Given the description of an element on the screen output the (x, y) to click on. 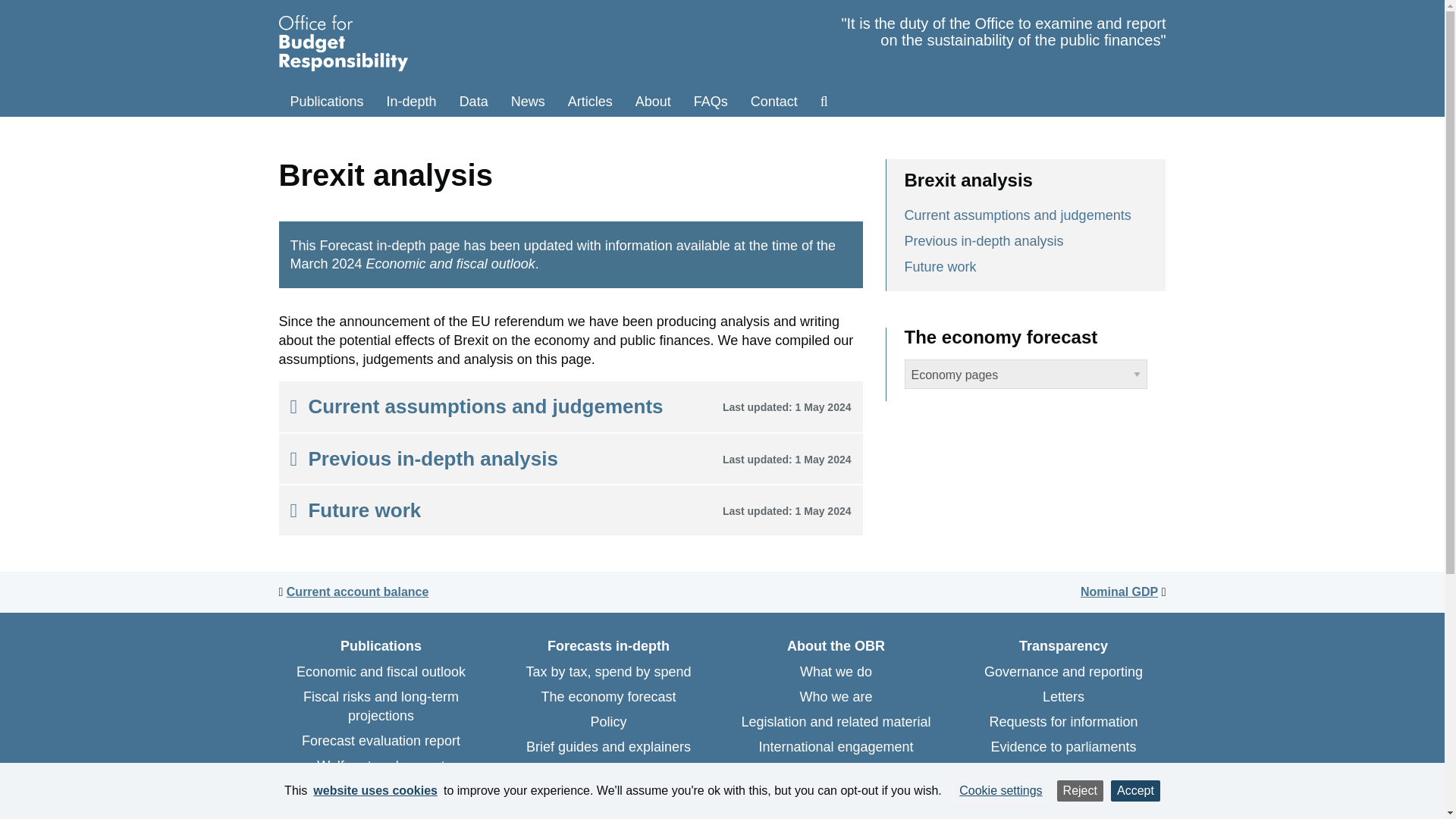
Publications (327, 101)
Articles (590, 101)
FAQs (710, 101)
Contact (774, 101)
News (527, 101)
About (653, 101)
In-depth (411, 101)
Data (473, 101)
Search site (824, 101)
